Given the description of an element on the screen output the (x, y) to click on. 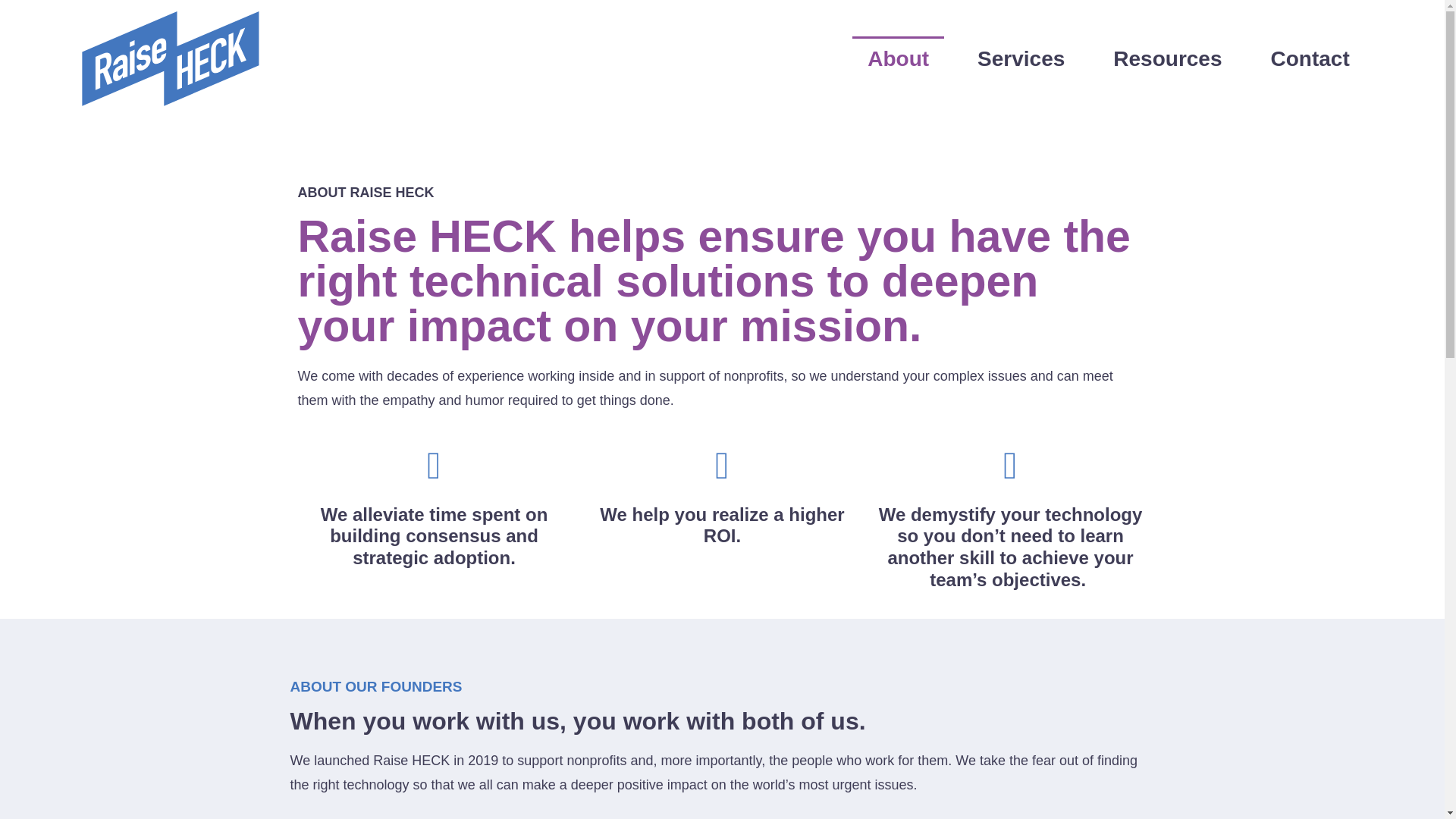
Contact (1310, 58)
Services (1021, 58)
About (897, 58)
Resources (1166, 58)
